Given the description of an element on the screen output the (x, y) to click on. 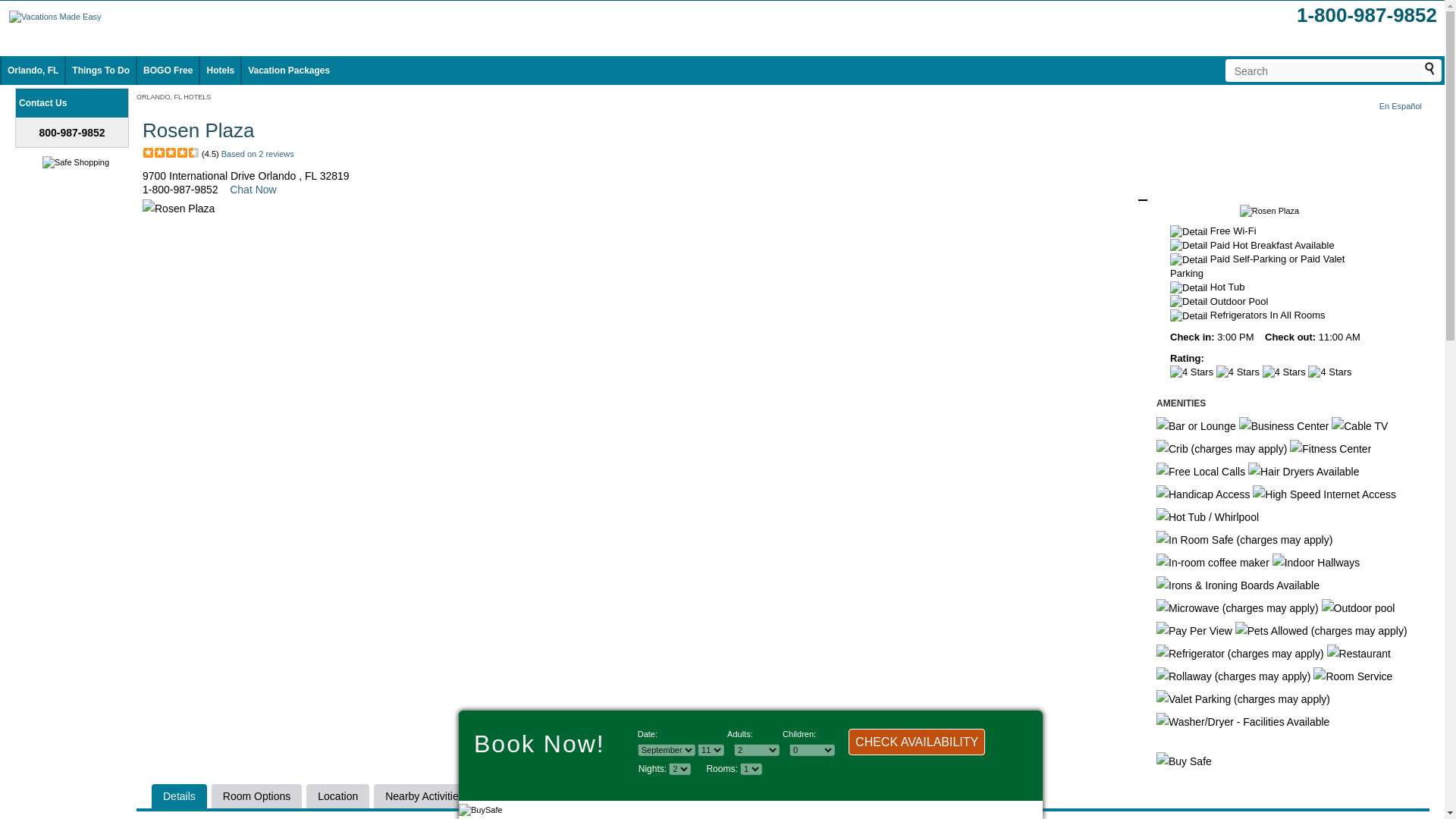
Chat Now (253, 189)
4 Stars (1284, 372)
Business Center (1284, 425)
Based on 2 reviews (257, 153)
Room Options (255, 796)
In-room coffee maker (1212, 562)
Nearby Activities (424, 796)
Vacation Packages (288, 70)
Orlando, FL (32, 70)
Indoor Hallways (1315, 562)
